Given the description of an element on the screen output the (x, y) to click on. 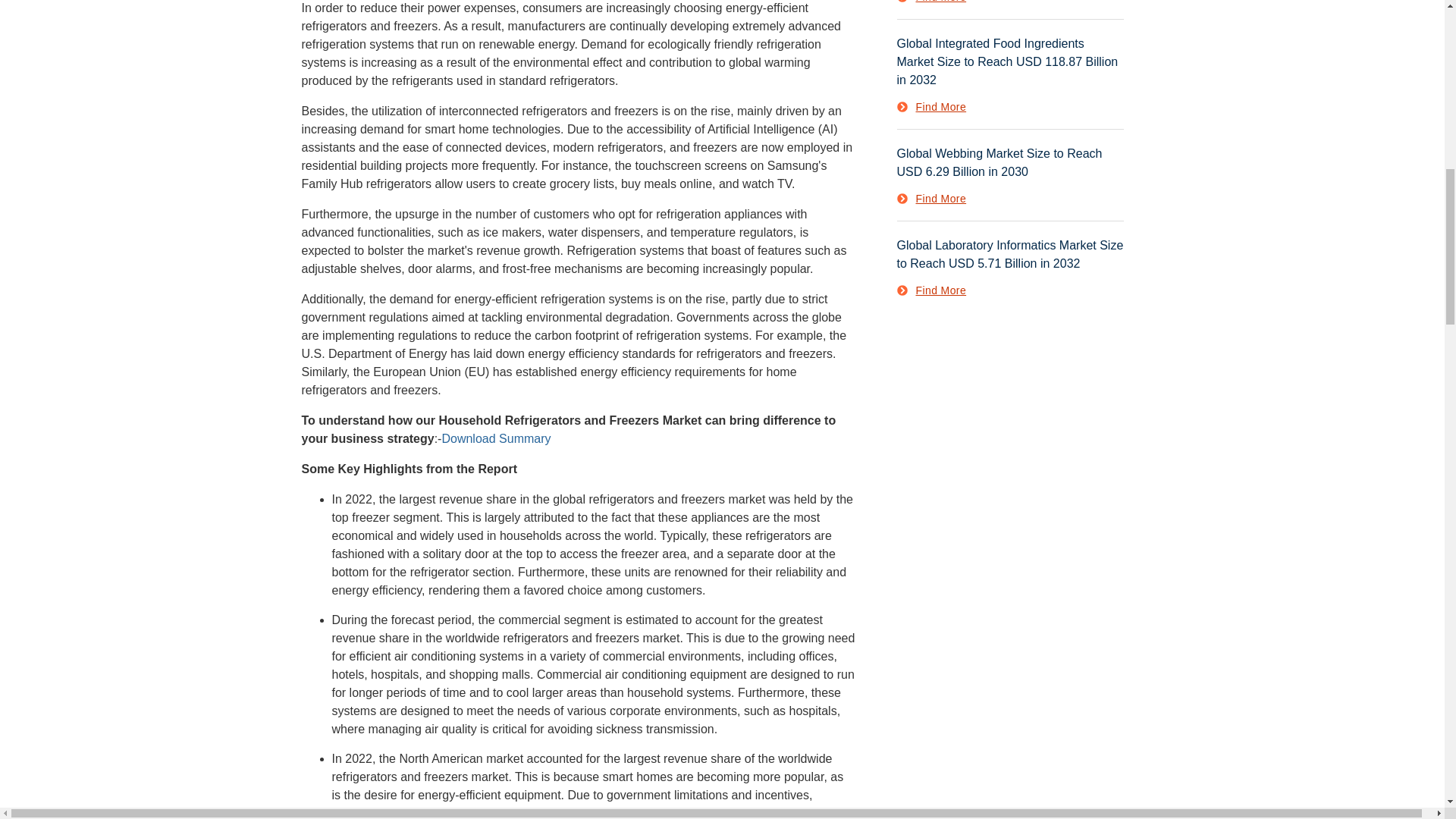
Download Summary (495, 438)
